Given the description of an element on the screen output the (x, y) to click on. 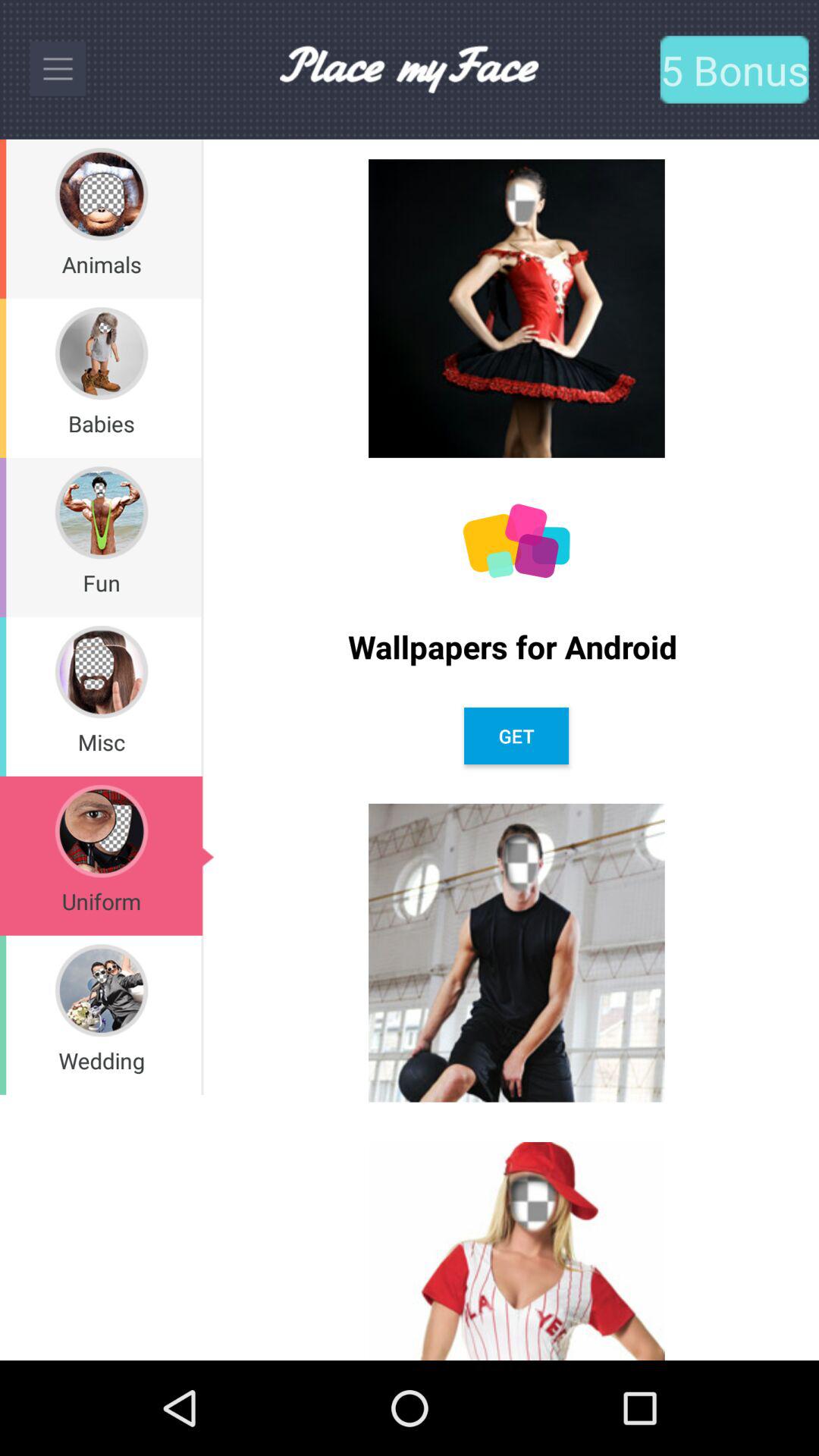
turn on the app next to wallpapers for android  item (202, 537)
